Given the description of an element on the screen output the (x, y) to click on. 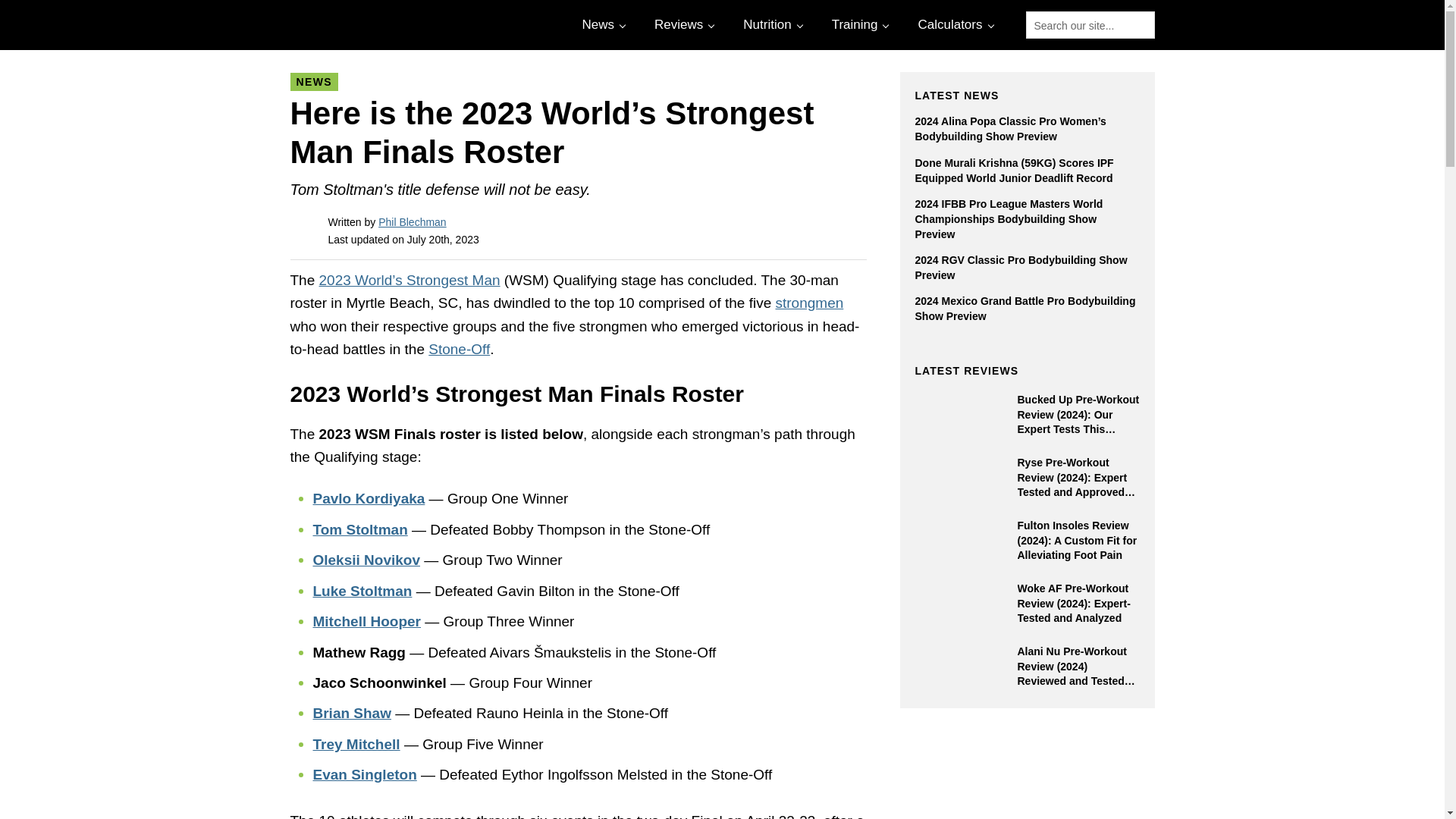
News (602, 24)
Reviews (682, 24)
